Given the description of an element on the screen output the (x, y) to click on. 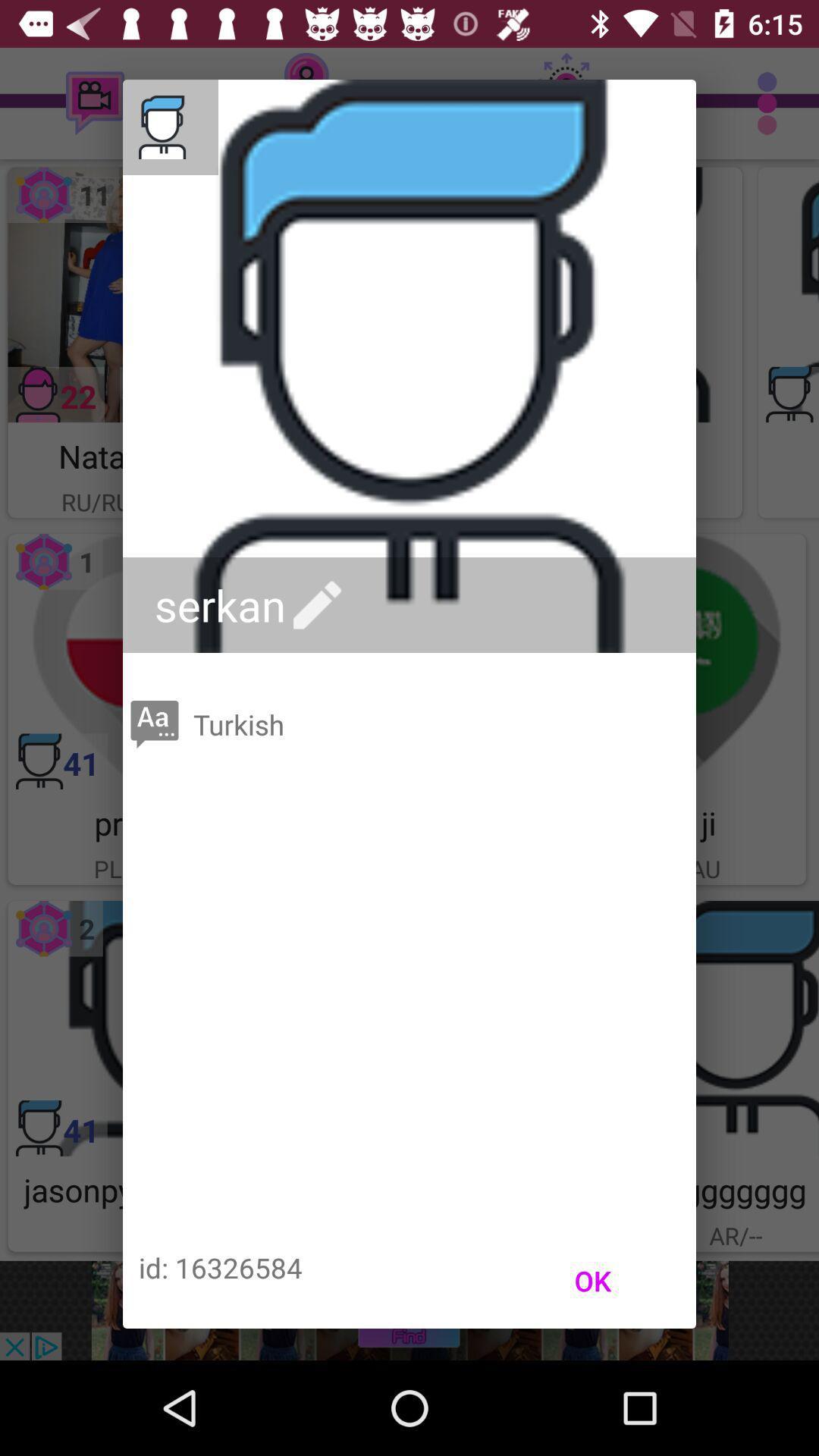
open icon to the right of id: 16326584 item (592, 1280)
